Given the description of an element on the screen output the (x, y) to click on. 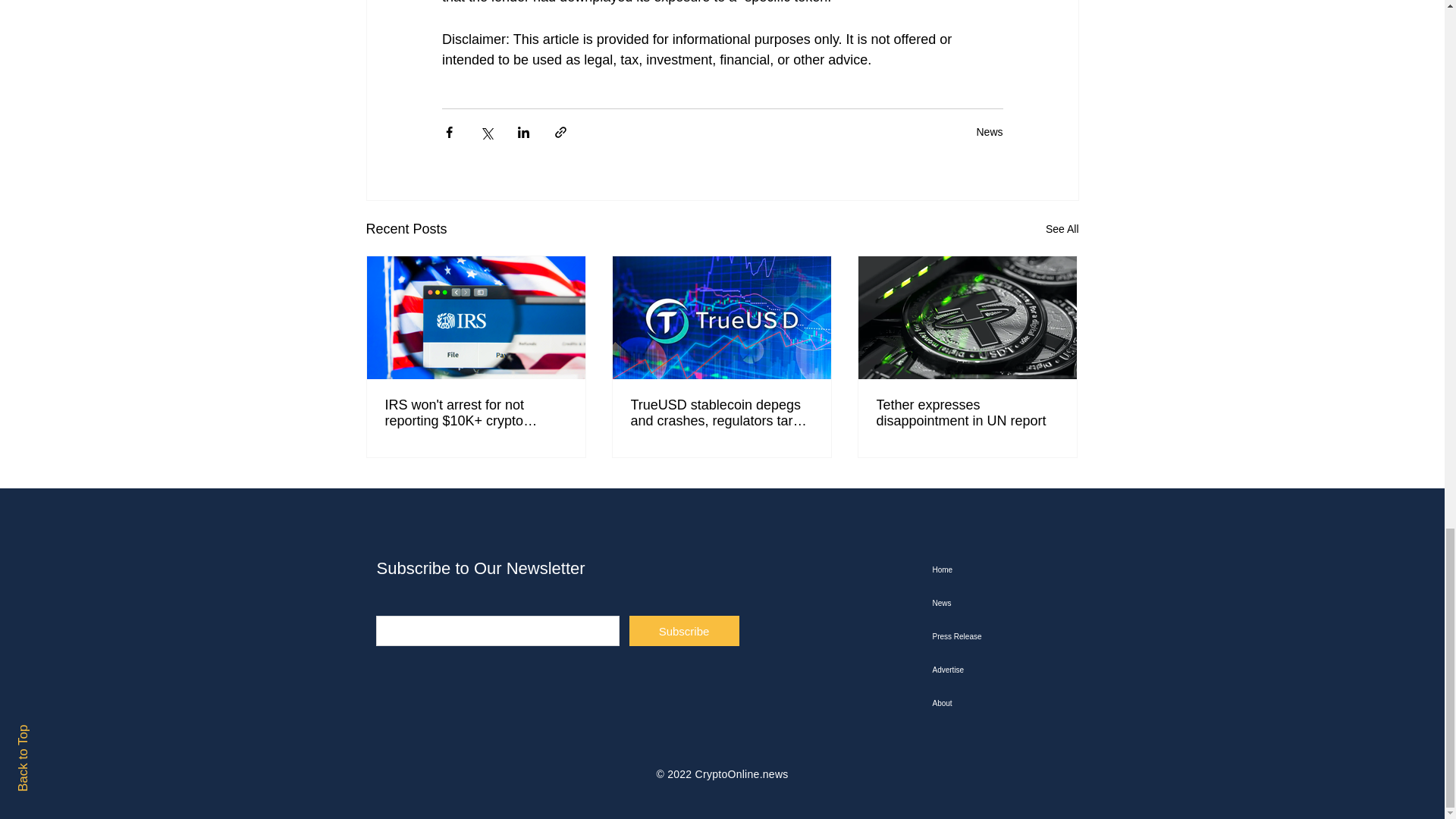
Home (1009, 570)
Subscribe (683, 630)
News (1009, 603)
Press Release (1009, 636)
See All (1061, 229)
Advertise (1009, 670)
Tether expresses disappointment in UN report (967, 413)
News (989, 132)
